Given the description of an element on the screen output the (x, y) to click on. 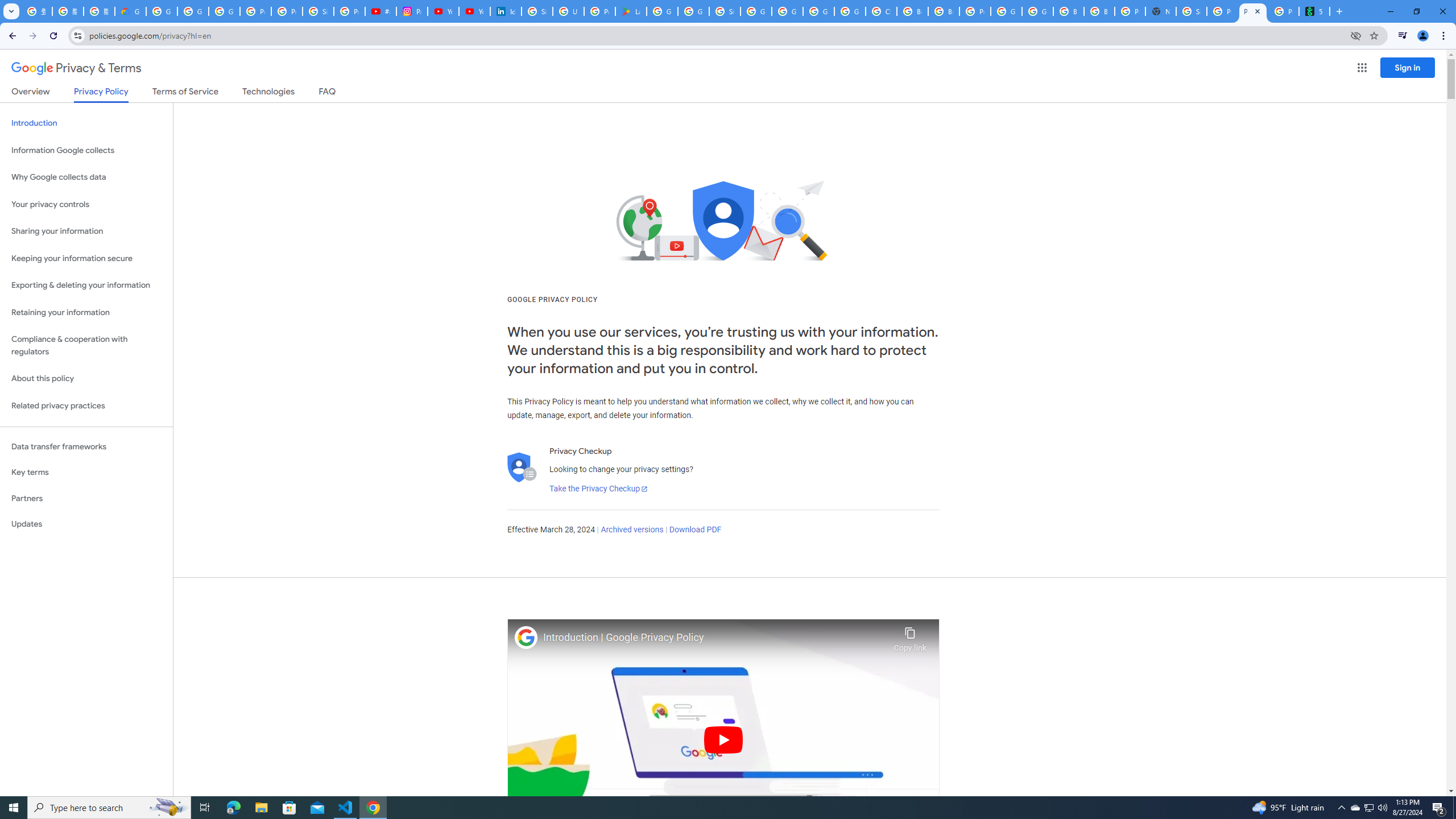
Introduction | Google Privacy Policy (715, 637)
Google Workspace - Specific Terms (693, 11)
Sign in - Google Accounts (536, 11)
#nbabasketballhighlights - YouTube (380, 11)
